Given the description of an element on the screen output the (x, y) to click on. 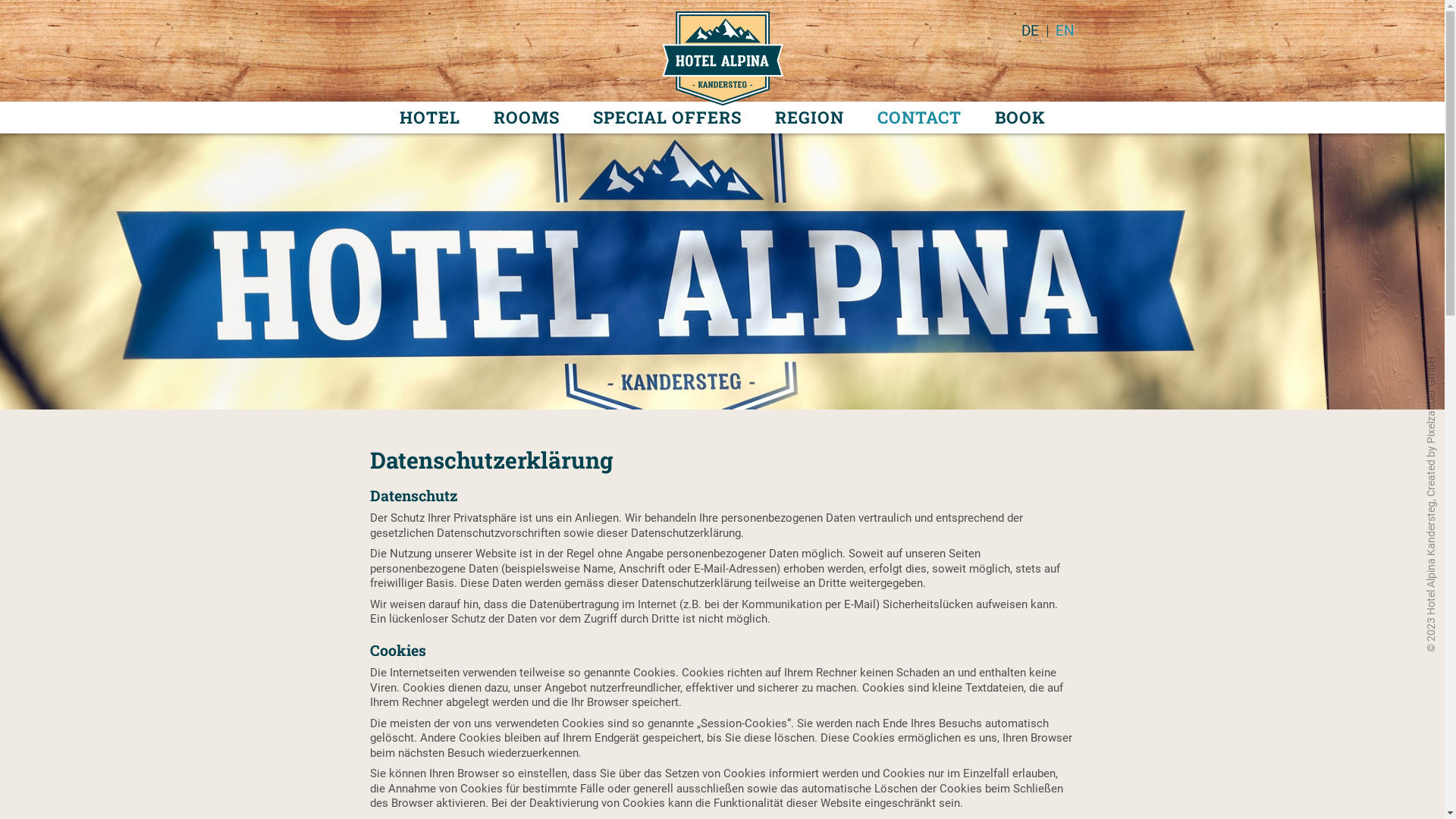
ROOMS Element type: text (526, 117)
BOOK Element type: text (1019, 117)
HOTEL Element type: text (429, 117)
REGION Element type: text (808, 117)
SPECIAL OFFERS Element type: text (666, 117)
CONTACT Element type: text (919, 117)
DE Element type: text (1030, 31)
EN Element type: text (1065, 31)
